Given the description of an element on the screen output the (x, y) to click on. 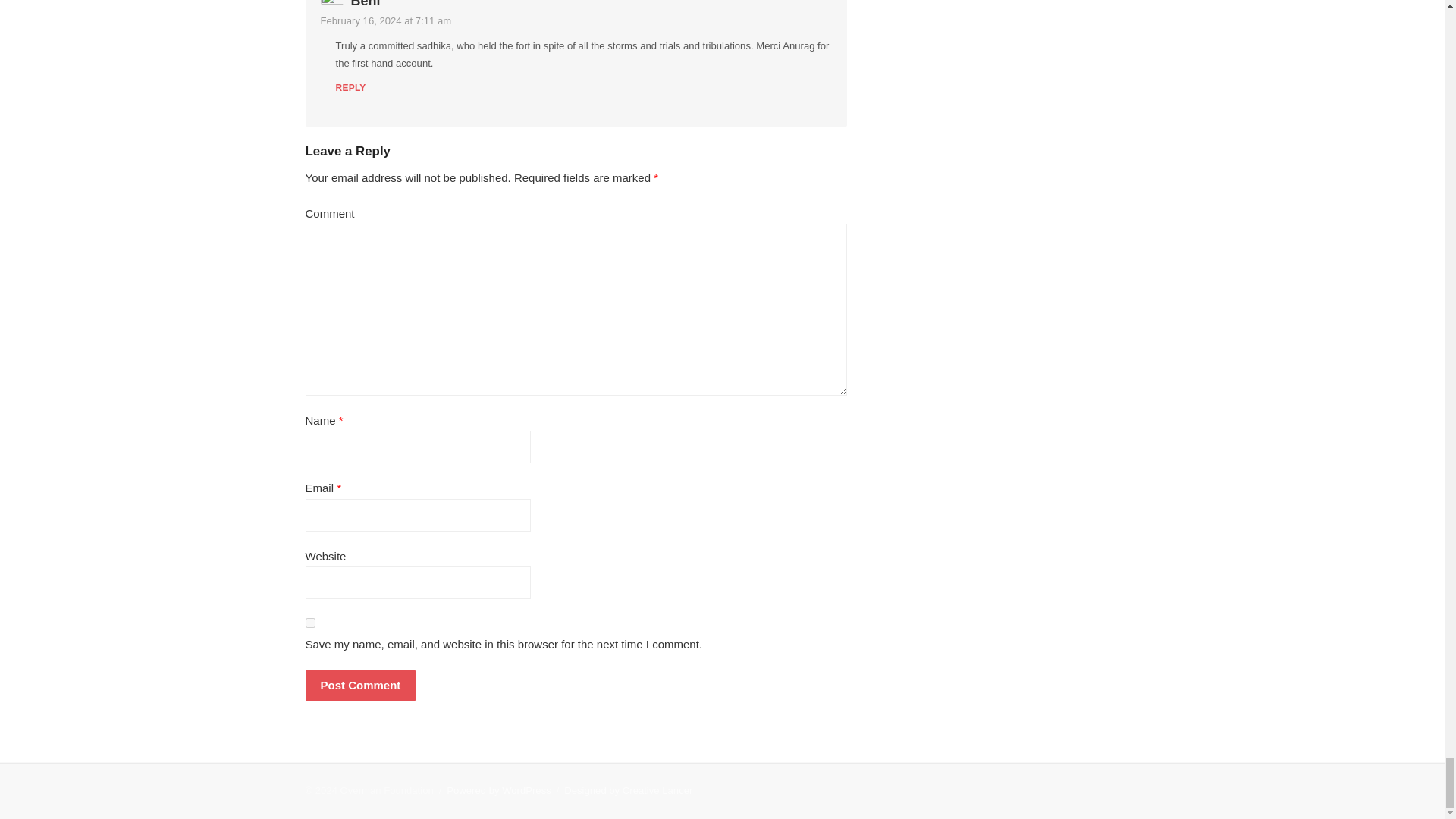
Post Comment (359, 685)
yes (309, 623)
